Given the description of an element on the screen output the (x, y) to click on. 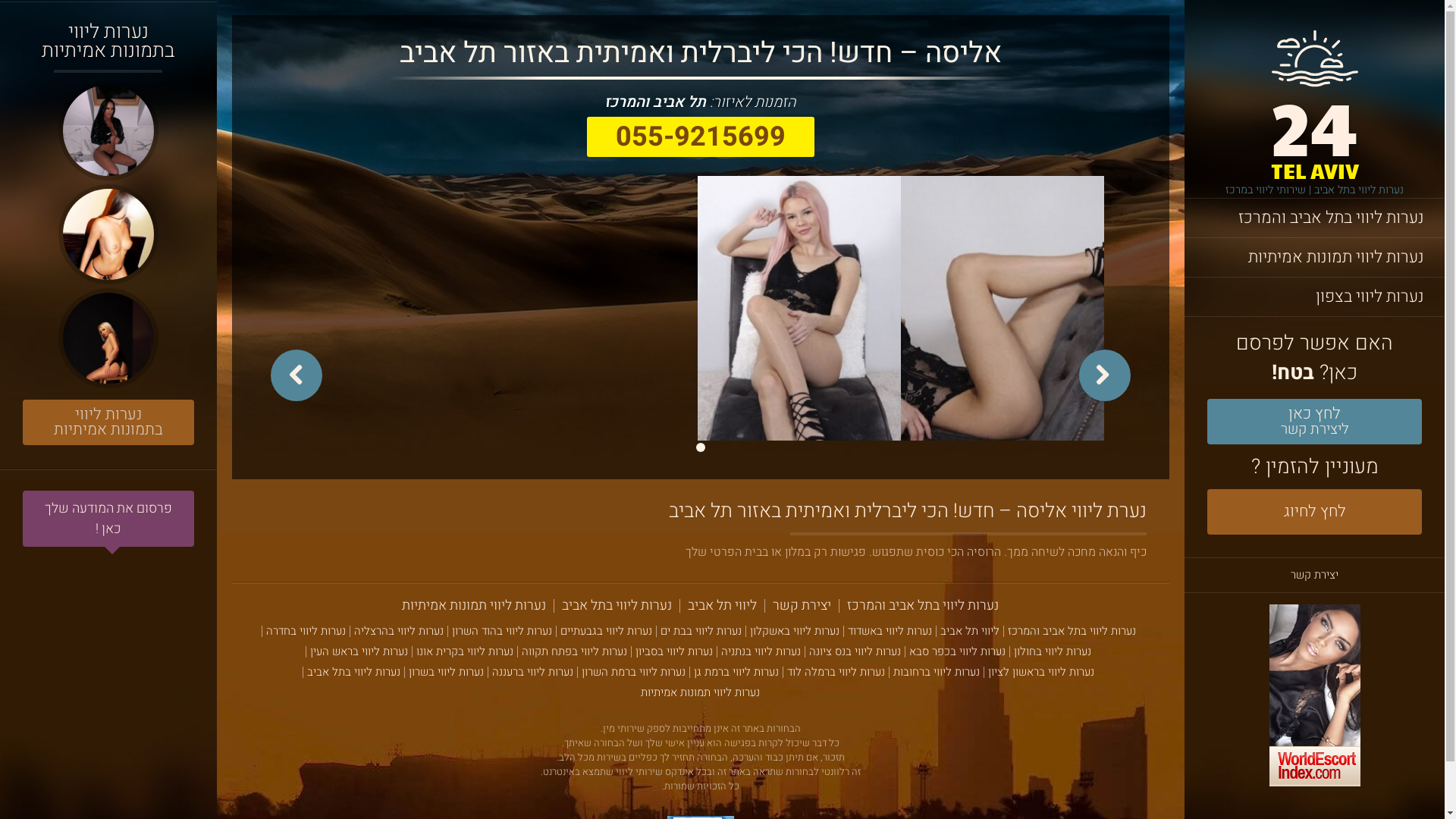
worldescortindex.com link Element type: hover (1314, 697)
055-9215699 Element type: text (700, 136)
